Given the description of an element on the screen output the (x, y) to click on. 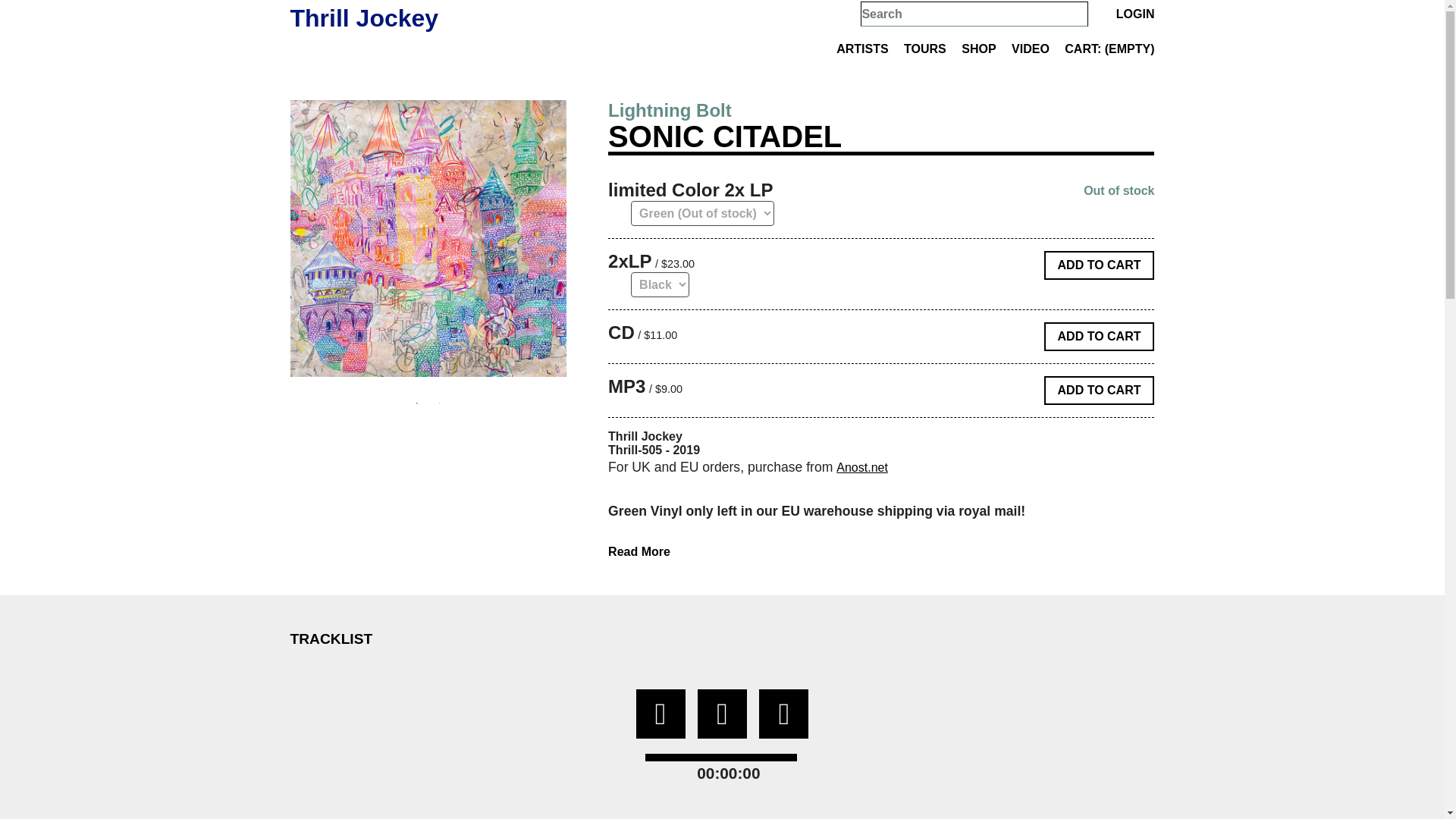
2 (439, 403)
Anost.net (861, 467)
1 (417, 403)
Thrill Jockey (363, 16)
ADD TO CART (1098, 389)
Lightning Bolt (670, 110)
TOURS (931, 49)
ADD TO CART (1098, 336)
ADD TO CART (1098, 265)
VIDEO (1036, 49)
LOGIN (1135, 13)
Read More (881, 551)
ARTISTS (867, 49)
SHOP (983, 49)
